Given the description of an element on the screen output the (x, y) to click on. 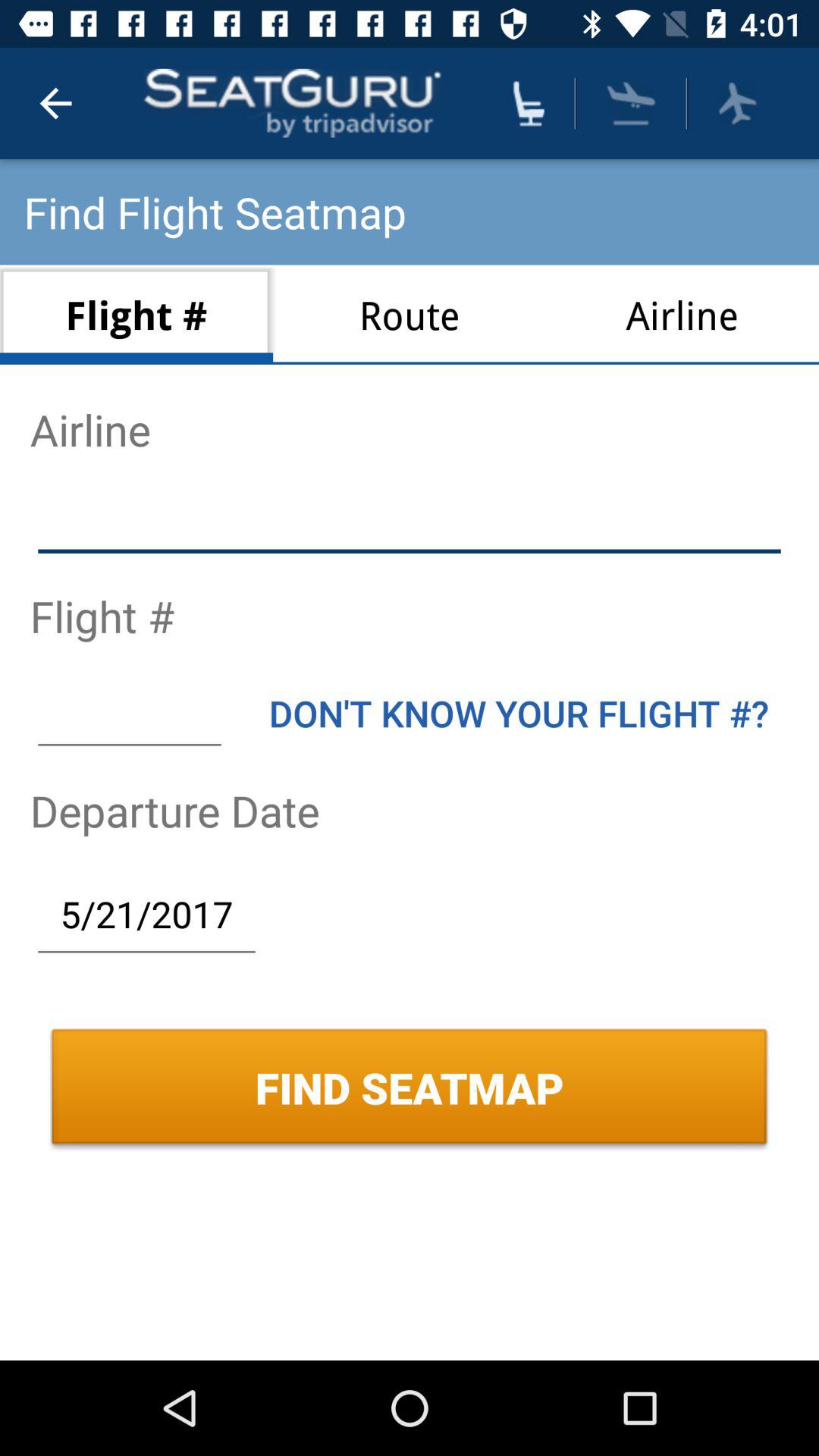
choose item below flight # (129, 712)
